Given the description of an element on the screen output the (x, y) to click on. 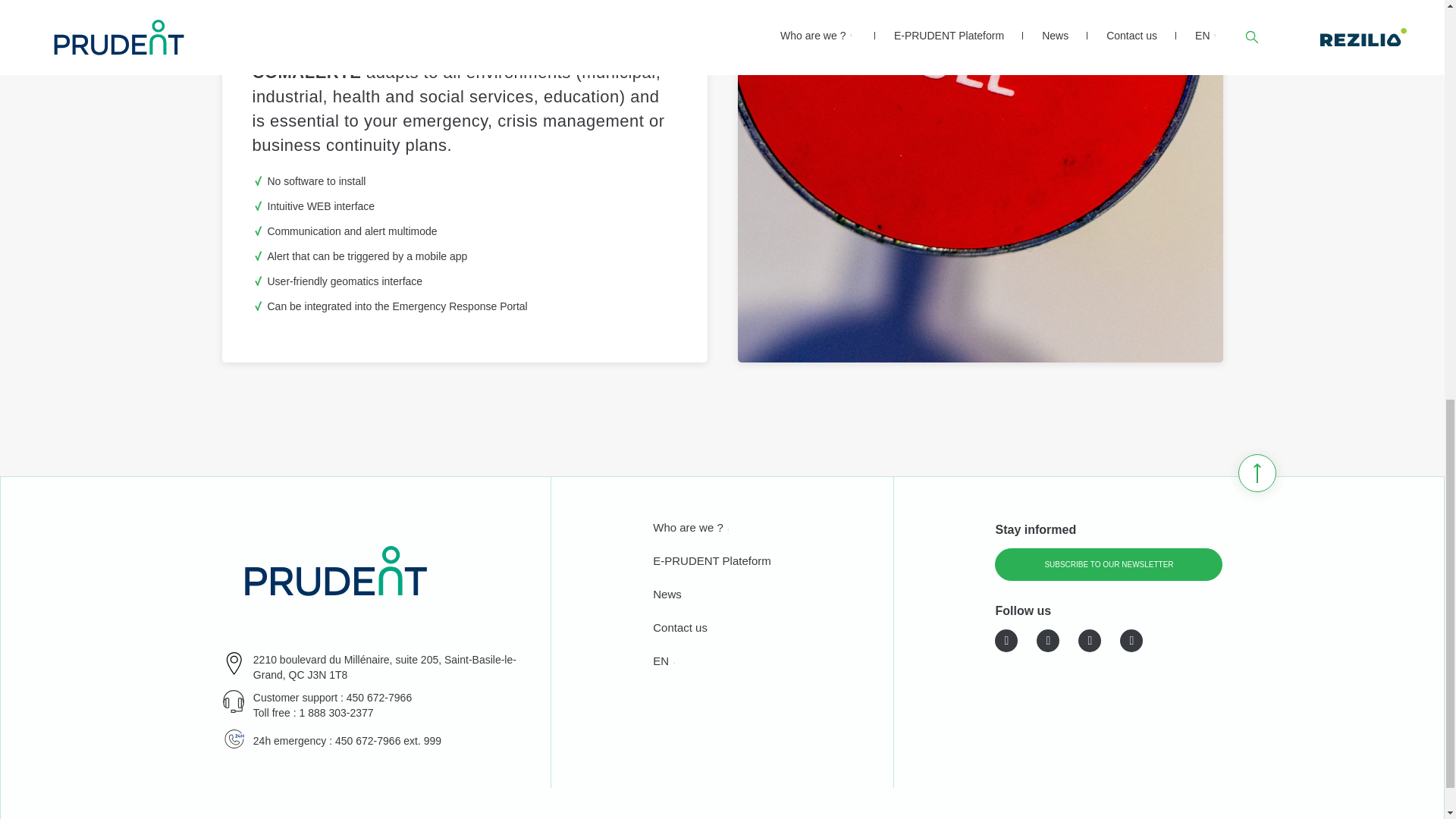
EN (660, 663)
